Given the description of an element on the screen output the (x, y) to click on. 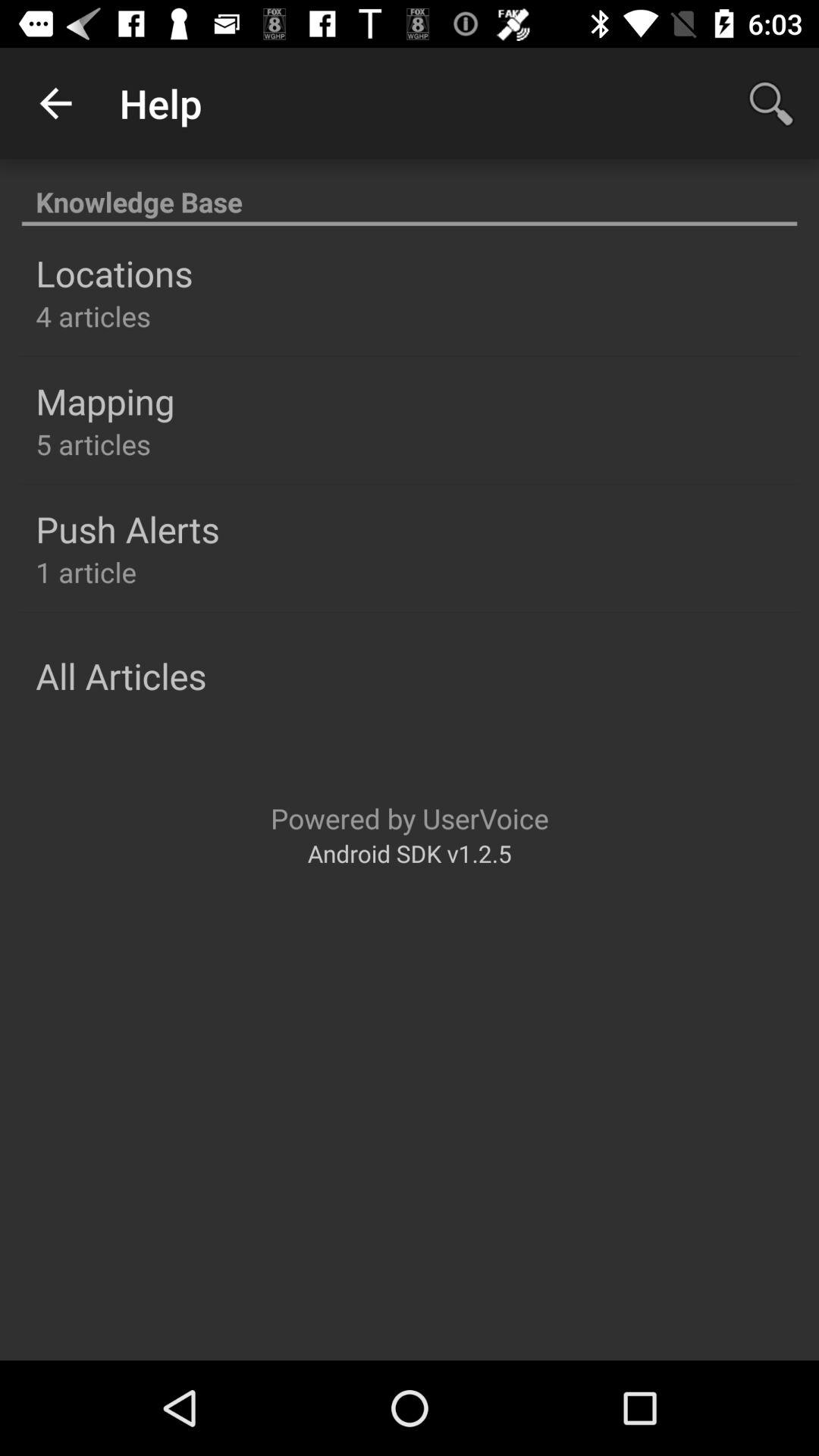
turn on the icon above the 5 articles item (104, 401)
